Given the description of an element on the screen output the (x, y) to click on. 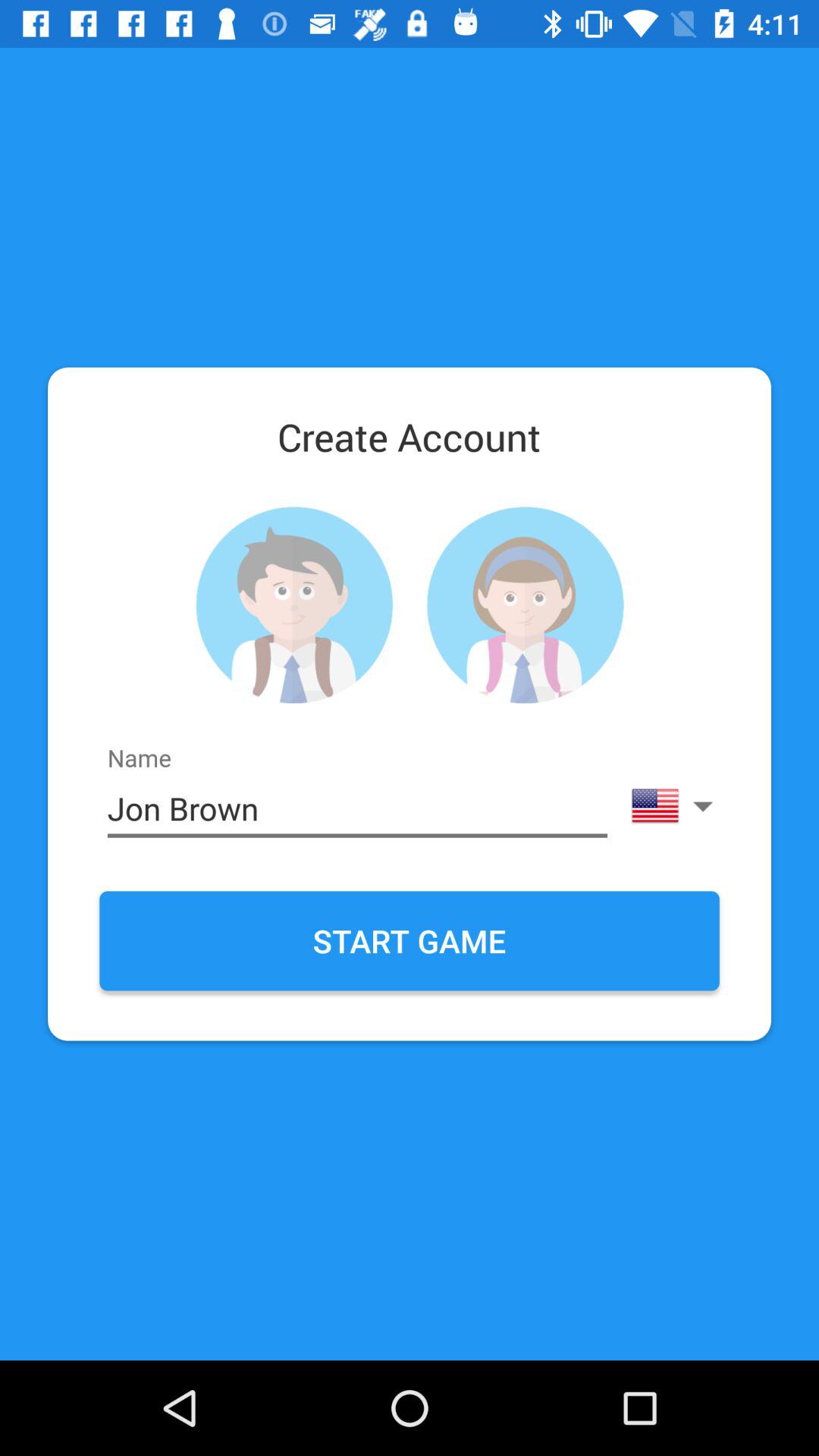
choose male/female (293, 605)
